Given the description of an element on the screen output the (x, y) to click on. 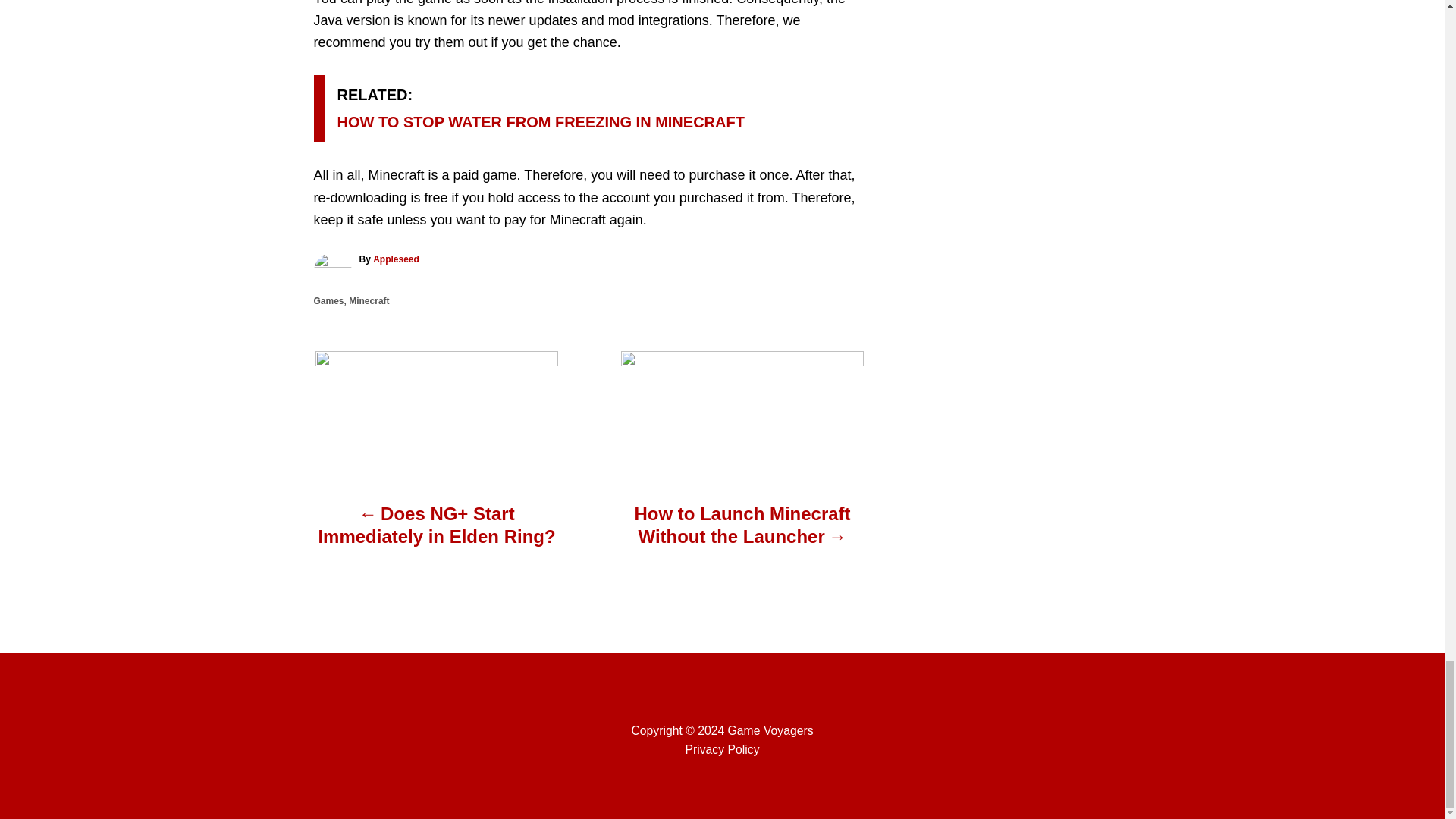
Games (328, 300)
How to Launch Minecraft Without the Launcher (741, 532)
Minecraft (368, 300)
HOW TO STOP WATER FROM FREEZING IN MINECRAFT (540, 121)
Appleseed (395, 258)
